Given the description of an element on the screen output the (x, y) to click on. 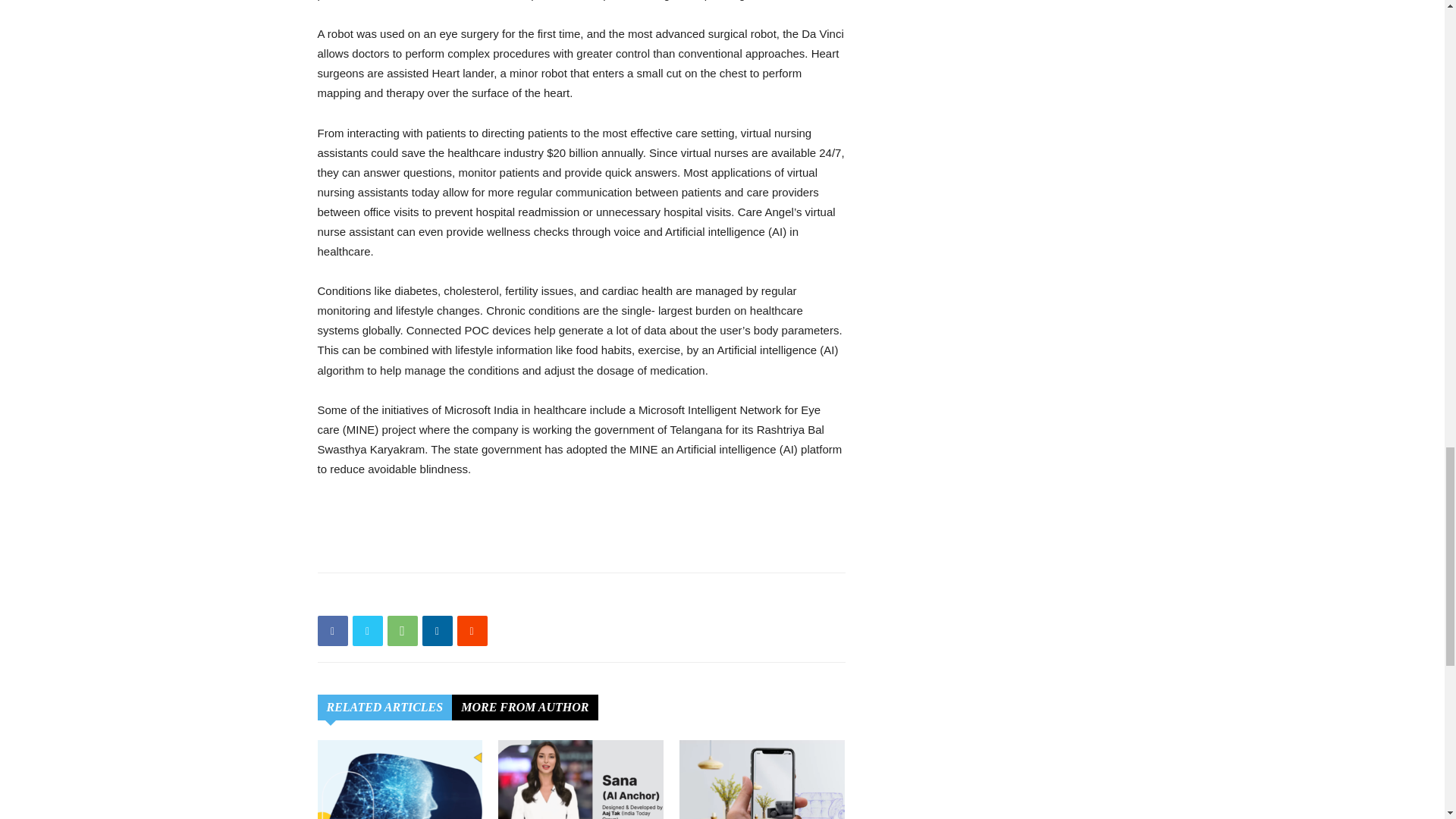
bottomFacebookLike (430, 596)
